Given the description of an element on the screen output the (x, y) to click on. 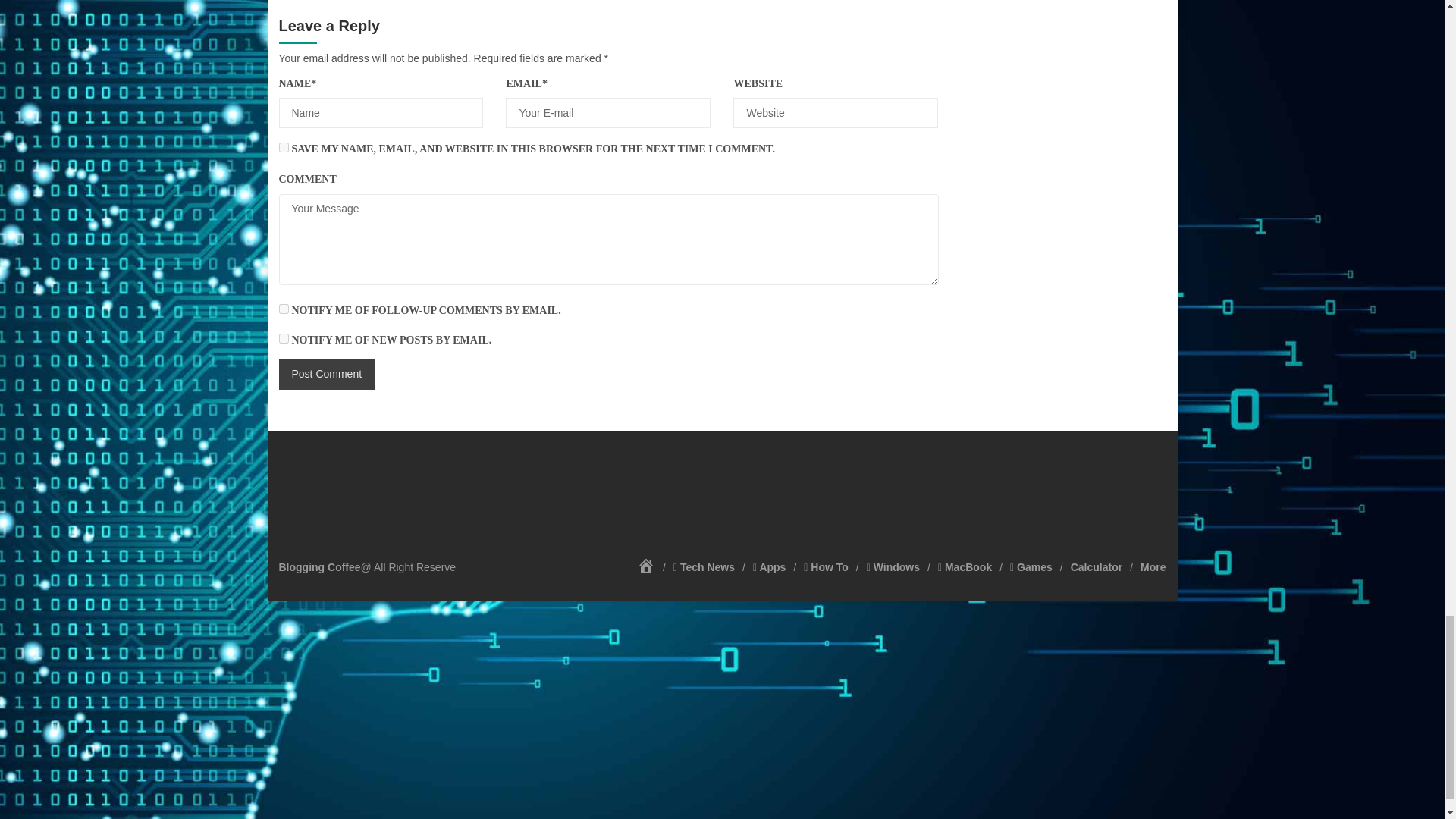
Post Comment (327, 374)
subscribe (283, 308)
subscribe (283, 338)
yes (283, 147)
